Given the description of an element on the screen output the (x, y) to click on. 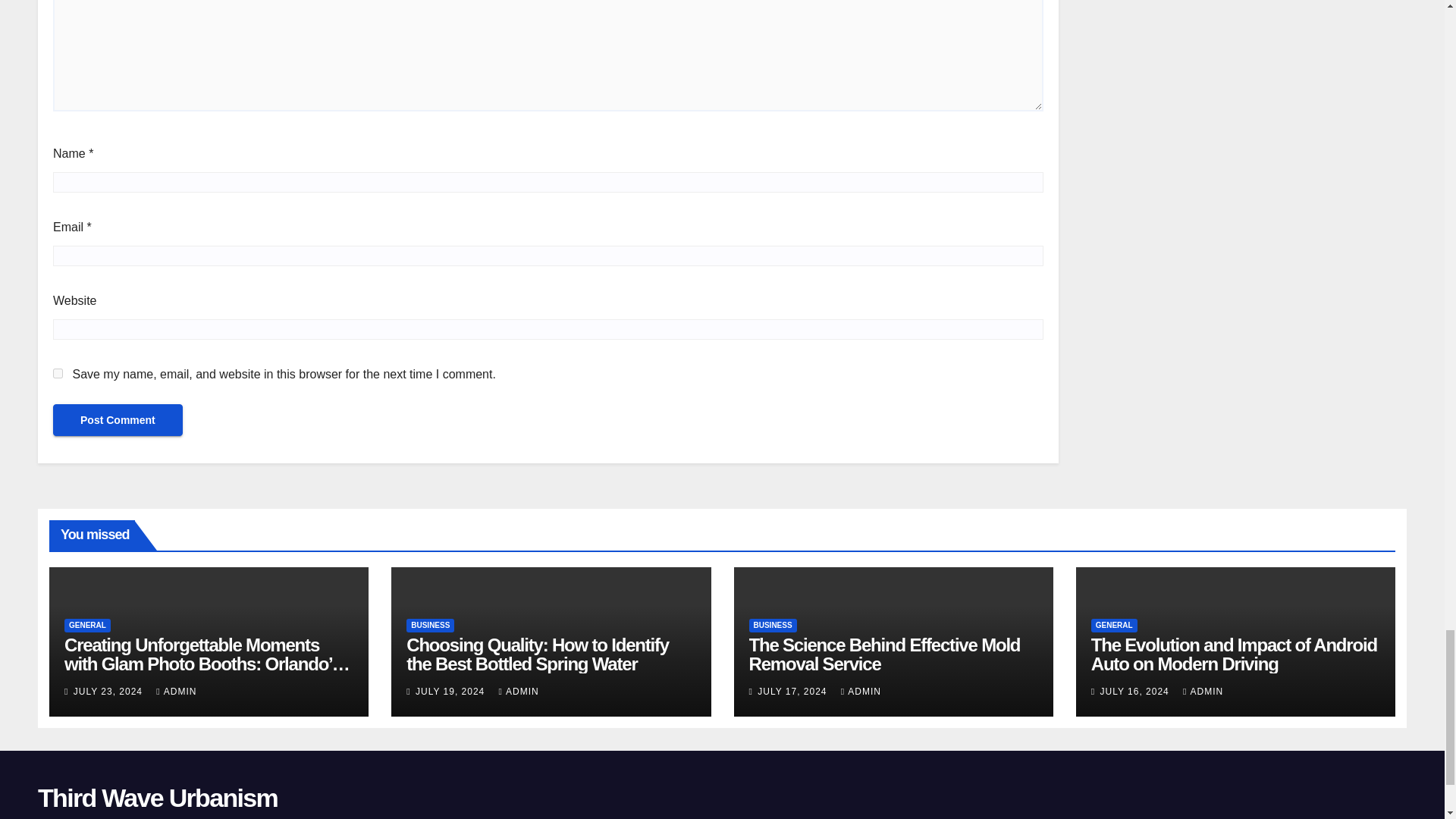
yes (57, 373)
Post Comment (117, 419)
